Given the description of an element on the screen output the (x, y) to click on. 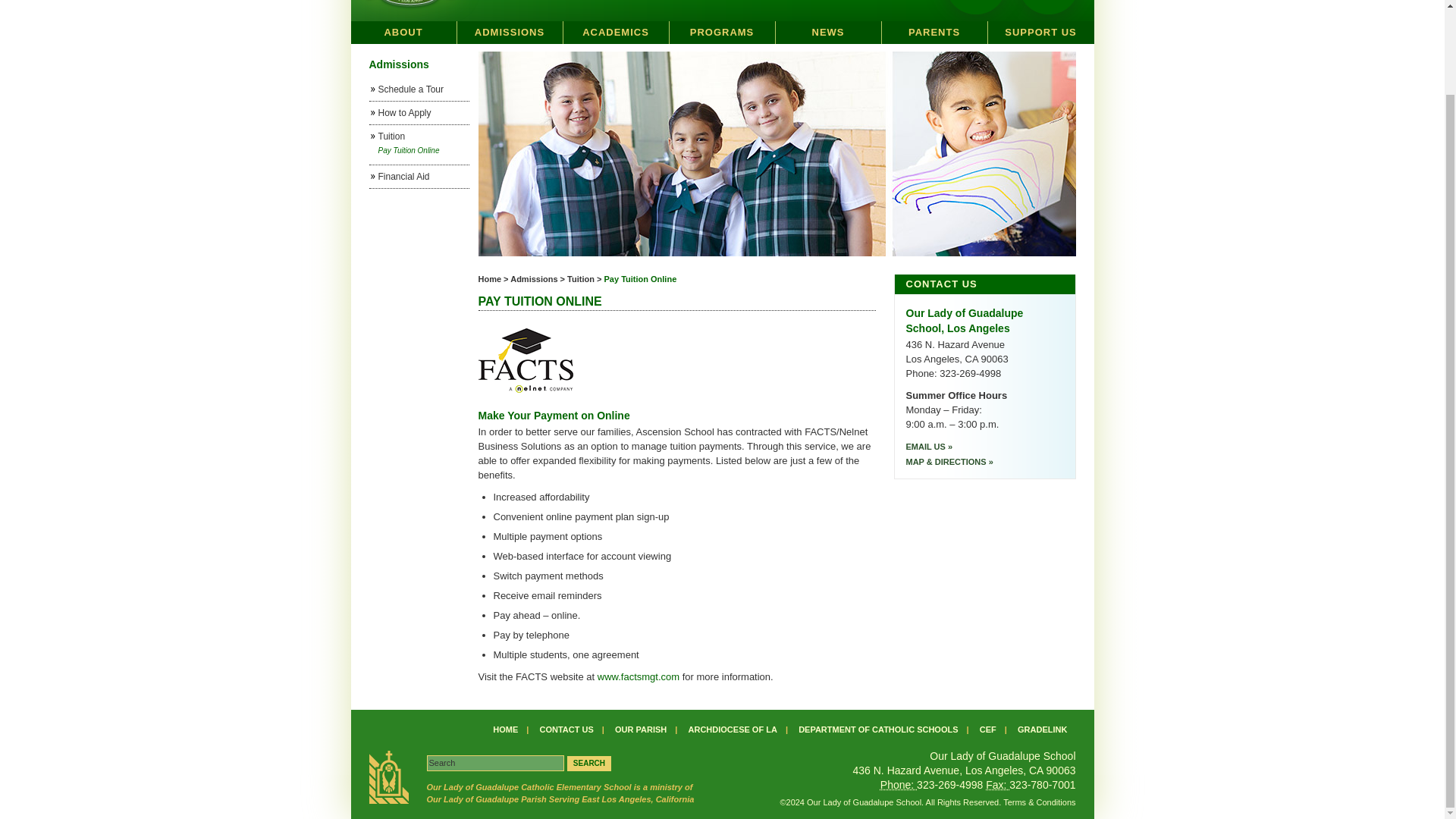
Home (488, 278)
Pay Tuition Online (640, 278)
SUPPORT US (1040, 32)
Search (589, 763)
PROGRAMS (721, 32)
work (898, 784)
fax (997, 784)
NEWS (1049, 6)
facts-logo (827, 32)
Search (524, 358)
ACADEMICS (494, 763)
ABOUT (615, 32)
ADMISSIONS (403, 32)
FACTS Tuition Management (509, 32)
